Given the description of an element on the screen output the (x, y) to click on. 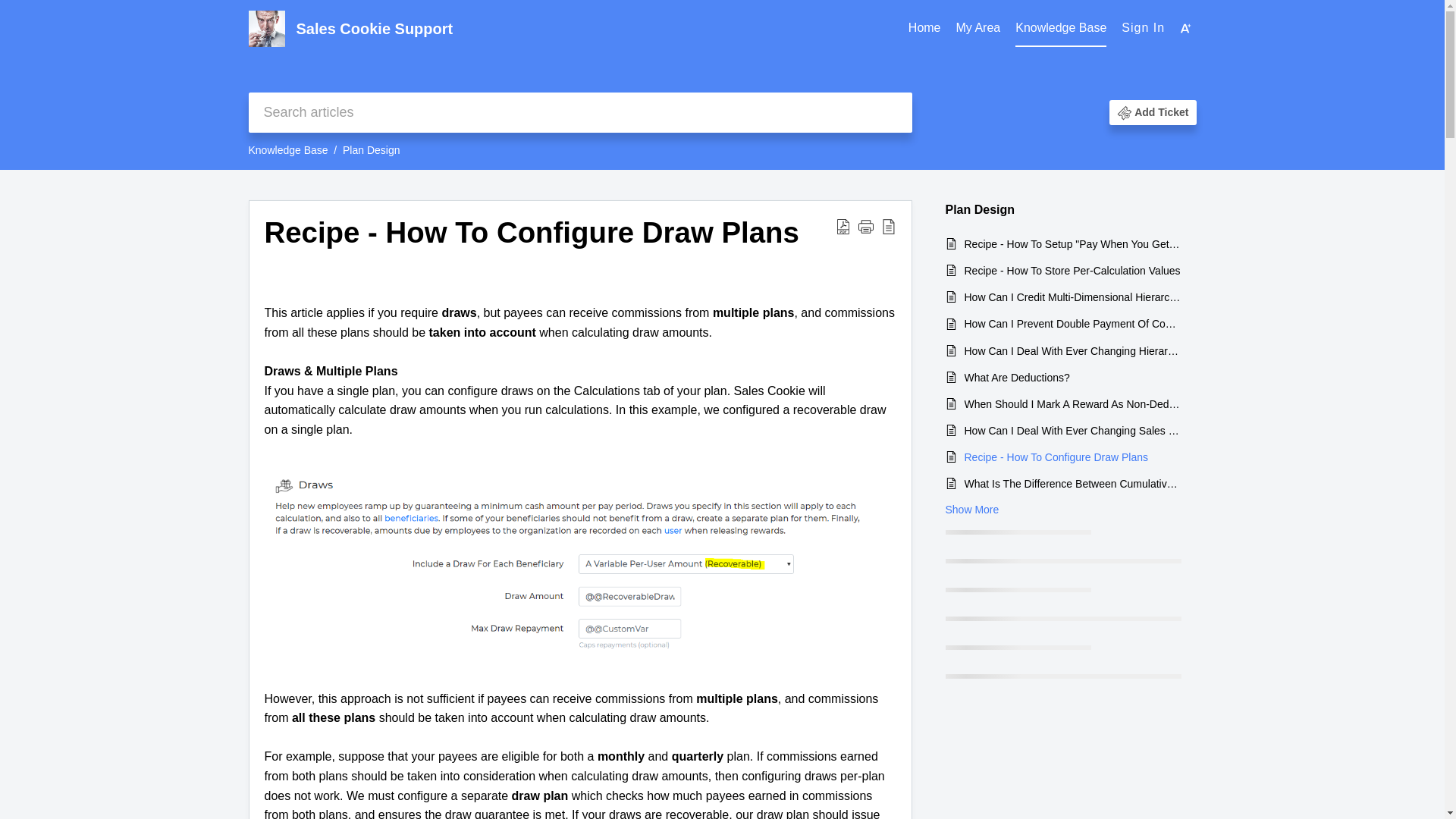
Sales Cookie Support (597, 28)
Home (924, 28)
My Area (978, 28)
Sign In (1142, 27)
When Should I Mark A Reward As Non-Deductible? (1071, 403)
Download as PDF (842, 232)
Plan Design (371, 150)
My Area (978, 27)
Add Ticket (1161, 112)
Home (924, 27)
Show More (971, 509)
Print (866, 232)
Show More (971, 509)
How Can I Prevent Double Payment Of Commissions? (1071, 323)
